Given the description of an element on the screen output the (x, y) to click on. 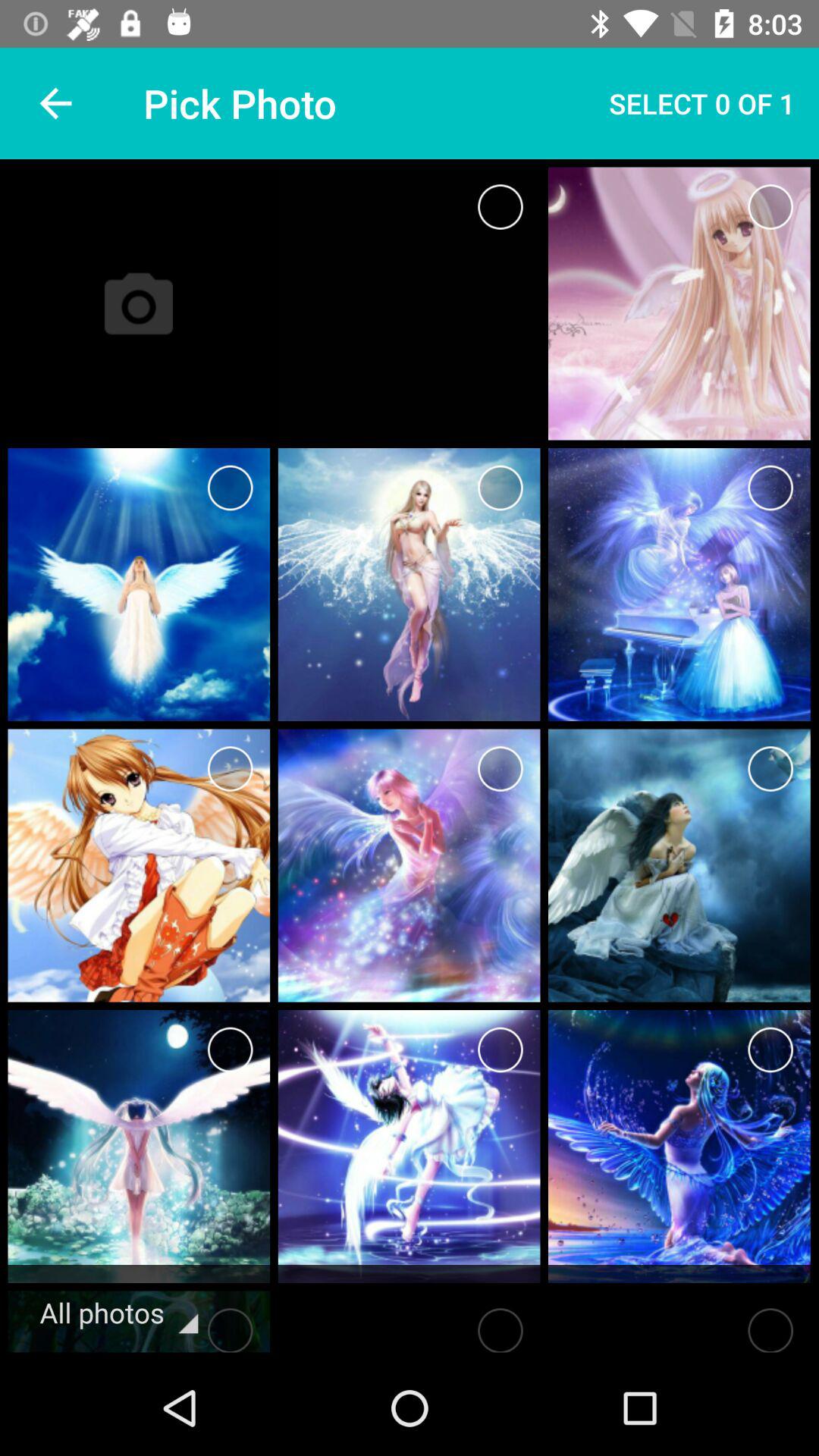
select photo (230, 1325)
